Given the description of an element on the screen output the (x, y) to click on. 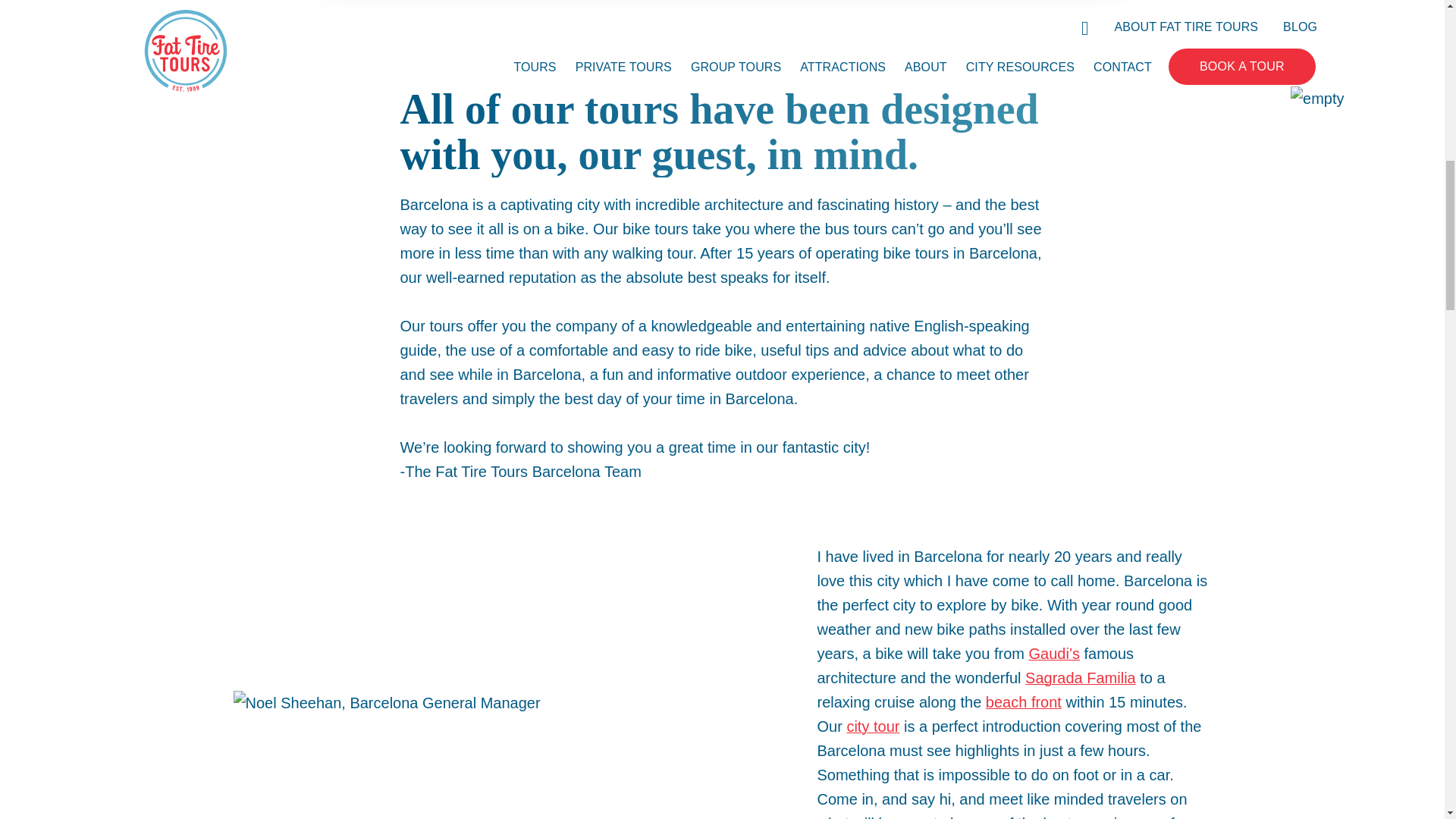
beach front (1023, 701)
Sagrada Familia (1080, 677)
city tour (872, 726)
